Given the description of an element on the screen output the (x, y) to click on. 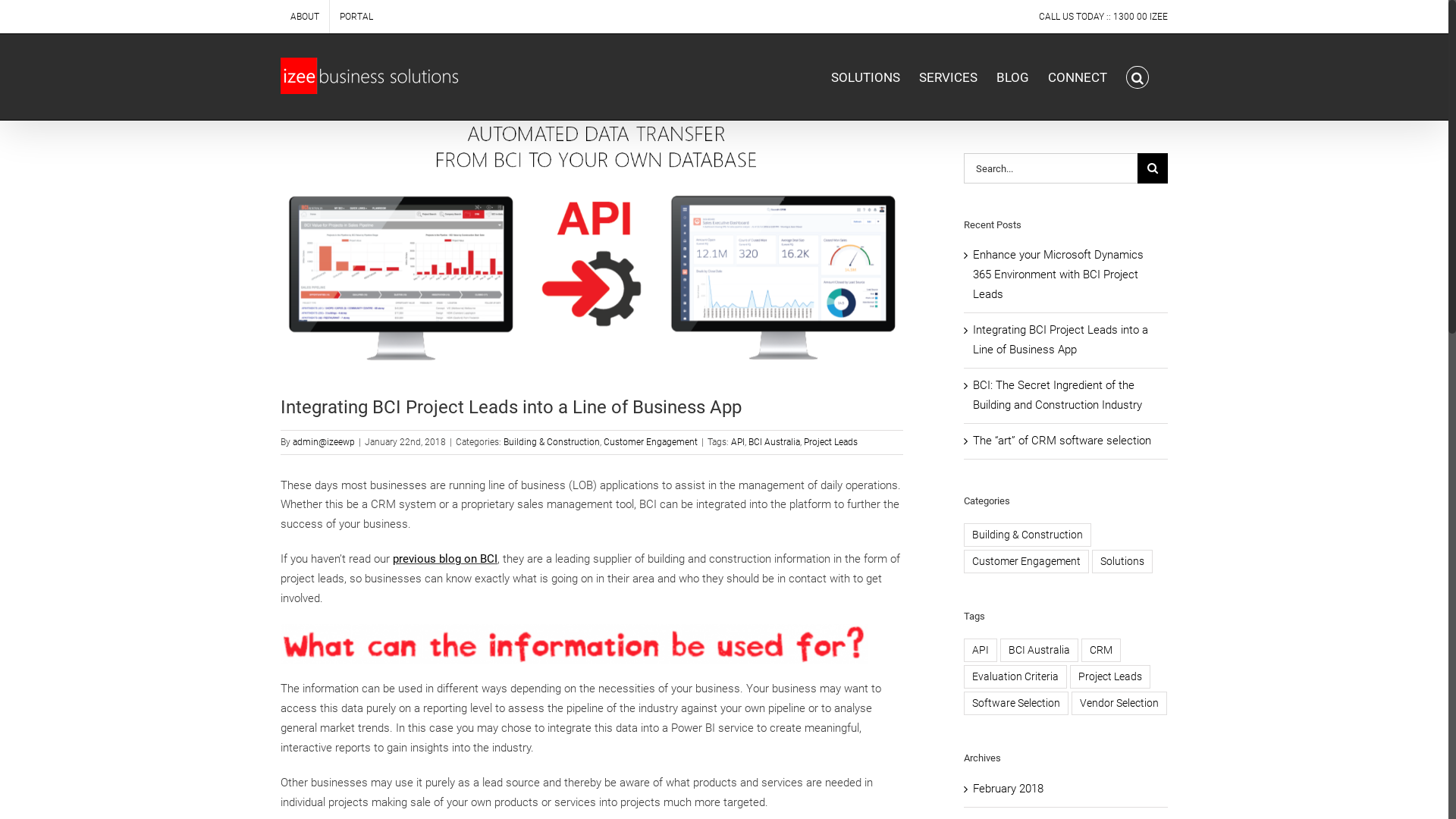
PORTAL Element type: text (355, 16)
Solutions Element type: text (1122, 561)
February 2018 Element type: text (1007, 788)
Project Leads Element type: text (830, 441)
Building & Construction Element type: text (1027, 534)
API Element type: text (980, 650)
Evaluation Criteria Element type: text (1014, 676)
Customer Engagement Element type: text (650, 441)
CONNECT Element type: text (1077, 76)
SOLUTIONS Element type: text (865, 76)
Project Leads Element type: text (1110, 676)
previous blog on BCI Element type: text (444, 558)
Integrating BCI Project Leads into a Line of Business App Element type: text (1060, 339)
API Element type: text (737, 441)
Software Selection Element type: text (1015, 703)
BLOG Element type: text (1012, 76)
admin@izeewp Element type: text (323, 441)
BCI Australia Element type: text (774, 441)
BCI Australia Element type: text (1039, 650)
ABOUT Element type: text (304, 16)
Vendor Selection Element type: text (1119, 703)
SERVICES Element type: text (948, 76)
Building & Construction Element type: text (551, 441)
Search Element type: hover (1137, 76)
Customer Engagement Element type: text (1025, 561)
CRM Element type: text (1100, 650)
